Given the description of an element on the screen output the (x, y) to click on. 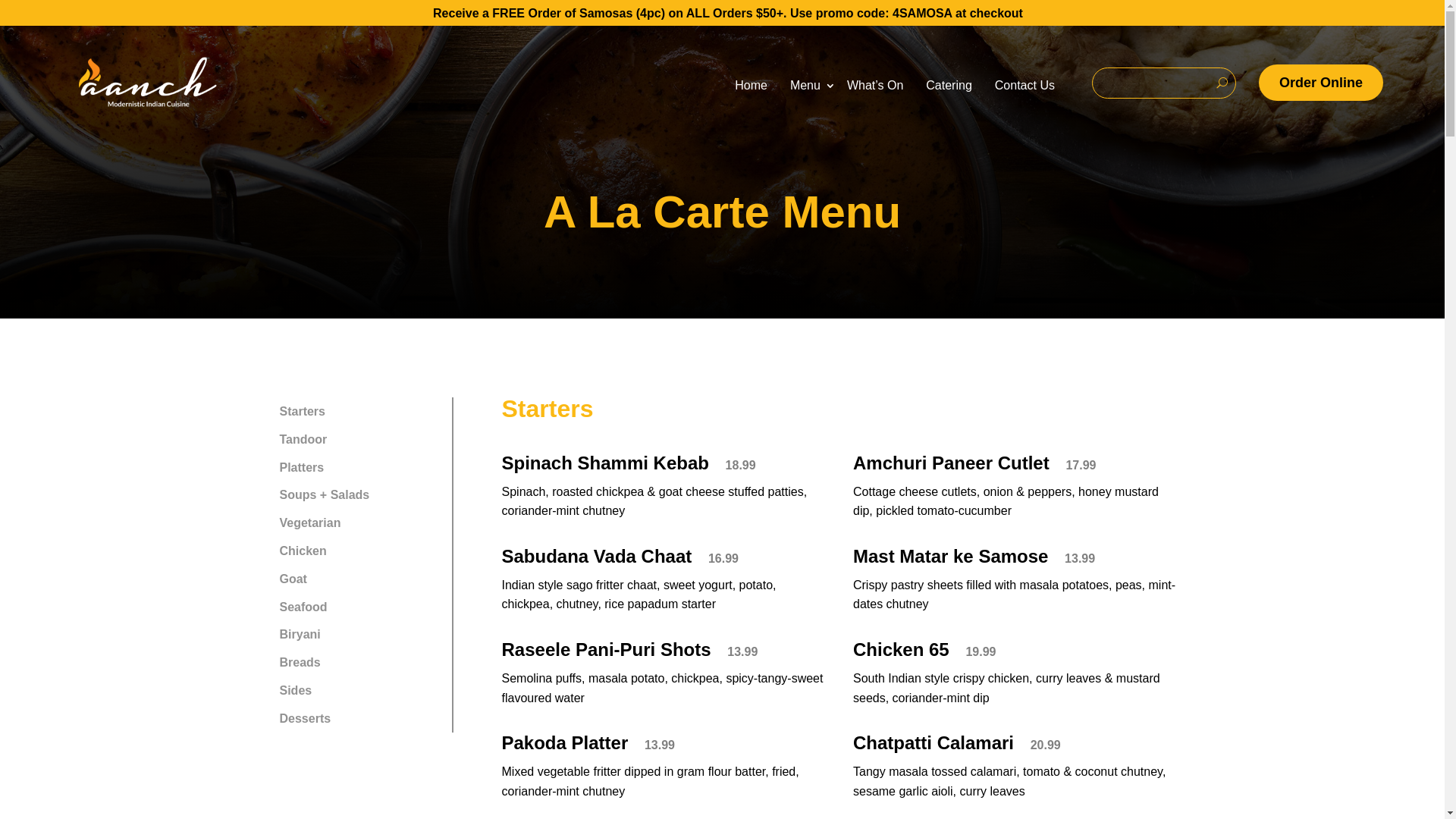
Sides Element type: text (359, 690)
Menu Element type: text (806, 85)
Chicken Element type: text (359, 550)
Starters Element type: text (359, 411)
U Element type: text (1221, 82)
Order Online Element type: text (1320, 82)
Vegetarian Element type: text (359, 522)
Tandoor Element type: text (359, 439)
Home Element type: text (750, 85)
Seafood Element type: text (359, 607)
Desserts Element type: text (359, 718)
Biryani Element type: text (359, 634)
Soups + Salads Element type: text (359, 495)
Breads Element type: text (359, 662)
Catering Element type: text (948, 85)
Goat Element type: text (359, 578)
Platters Element type: text (359, 467)
Contact Us Element type: text (1024, 85)
